Given the description of an element on the screen output the (x, y) to click on. 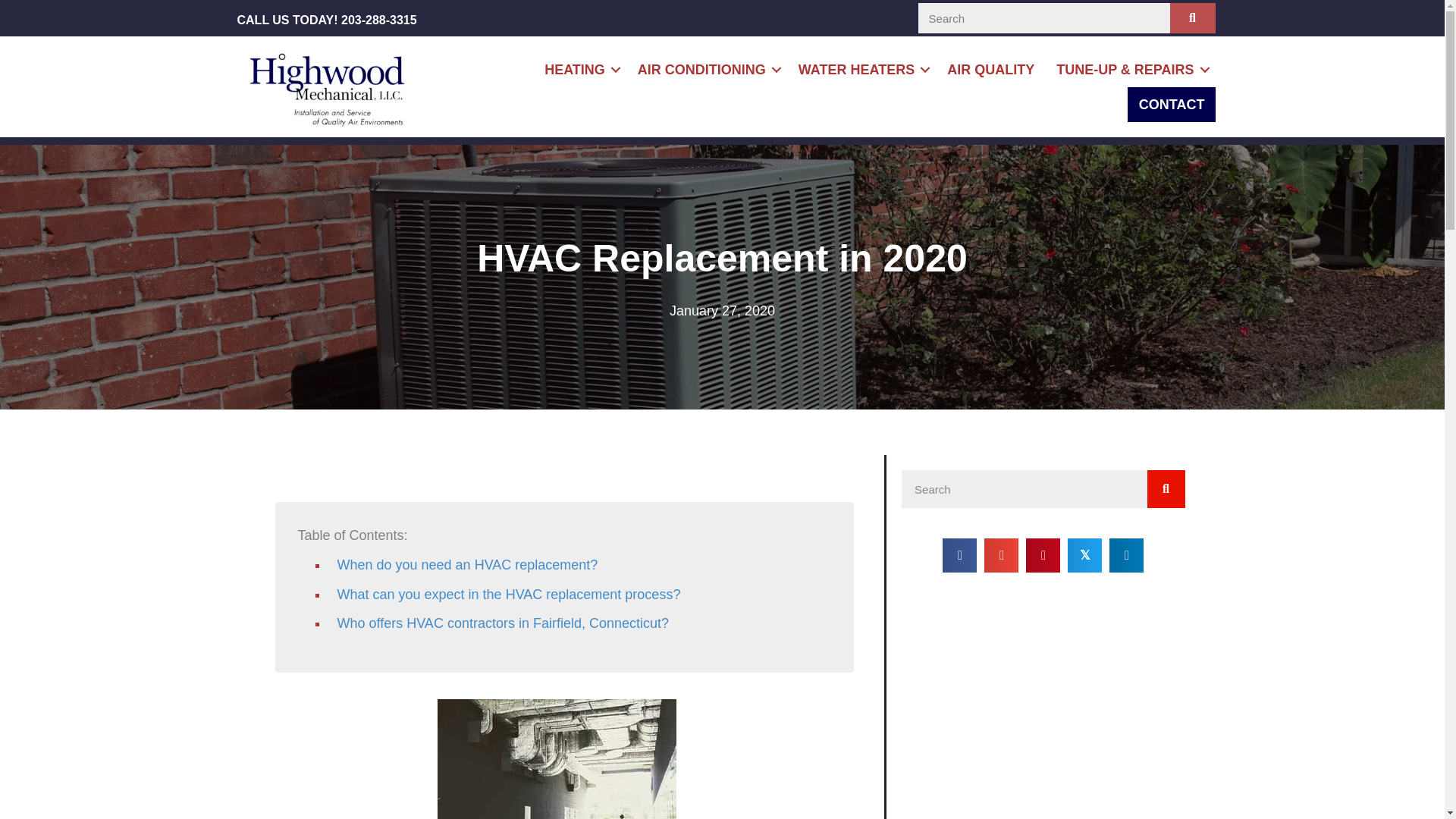
CONTACT (1171, 104)
AIR CONDITIONING (707, 69)
Who offers HVAC contractors in Fairfield, Connecticut? (502, 622)
Search (1043, 18)
Search (1024, 488)
WATER HEATERS (861, 69)
When do you need an HVAC replacement? (466, 564)
HEATING (580, 69)
203-288-3315 (378, 19)
AIR QUALITY (990, 69)
What can you expect in the HVAC replacement process? (507, 594)
